Given the description of an element on the screen output the (x, y) to click on. 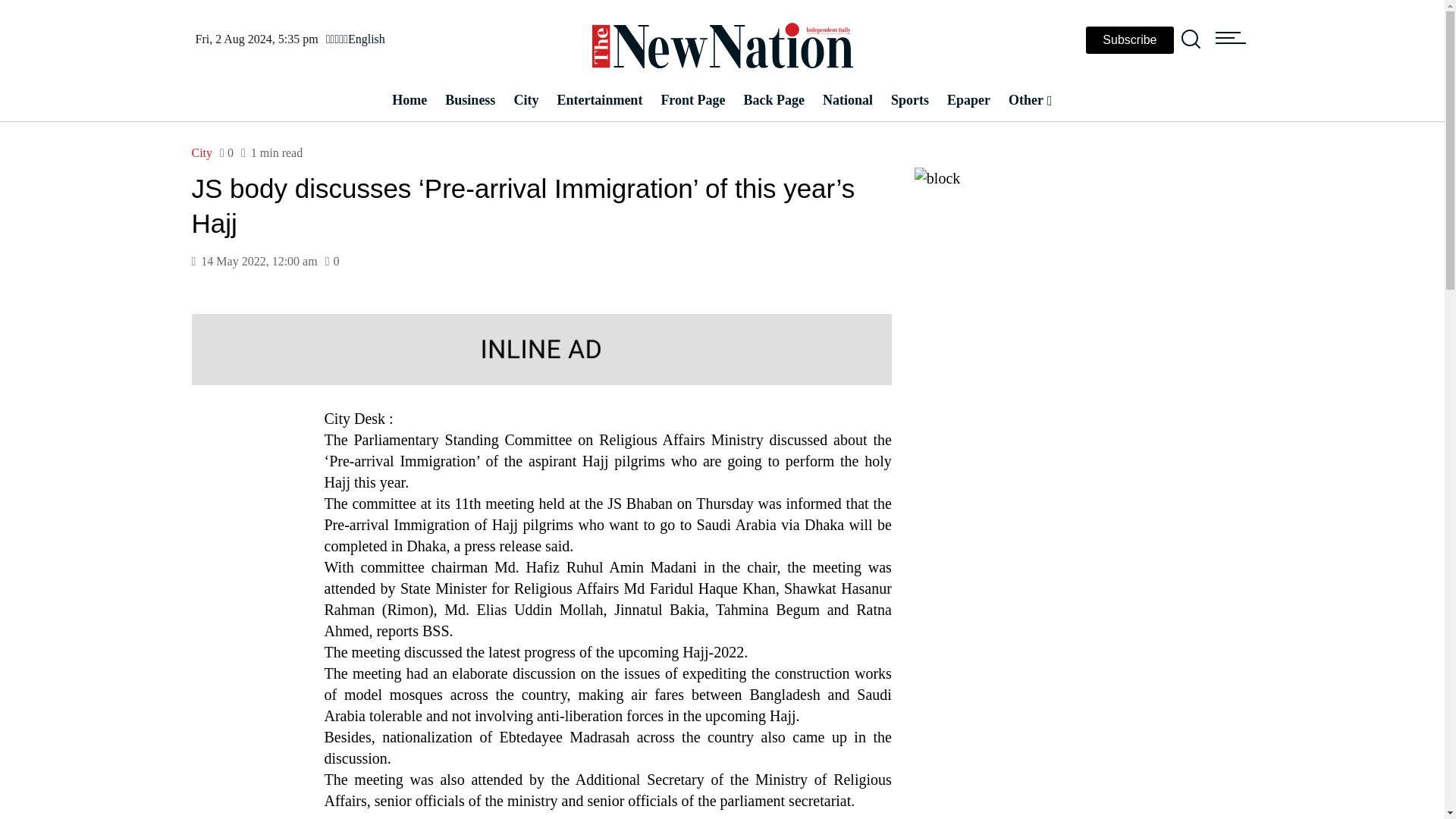
National (847, 100)
Home (408, 100)
0 (225, 152)
City (201, 152)
Business (469, 100)
Front Page (691, 100)
Sports (909, 100)
City (525, 100)
0 (331, 261)
Subscribe (1129, 39)
Back Page (774, 100)
Other (1029, 100)
Entertainment (598, 100)
Epaper (967, 100)
